Given the description of an element on the screen output the (x, y) to click on. 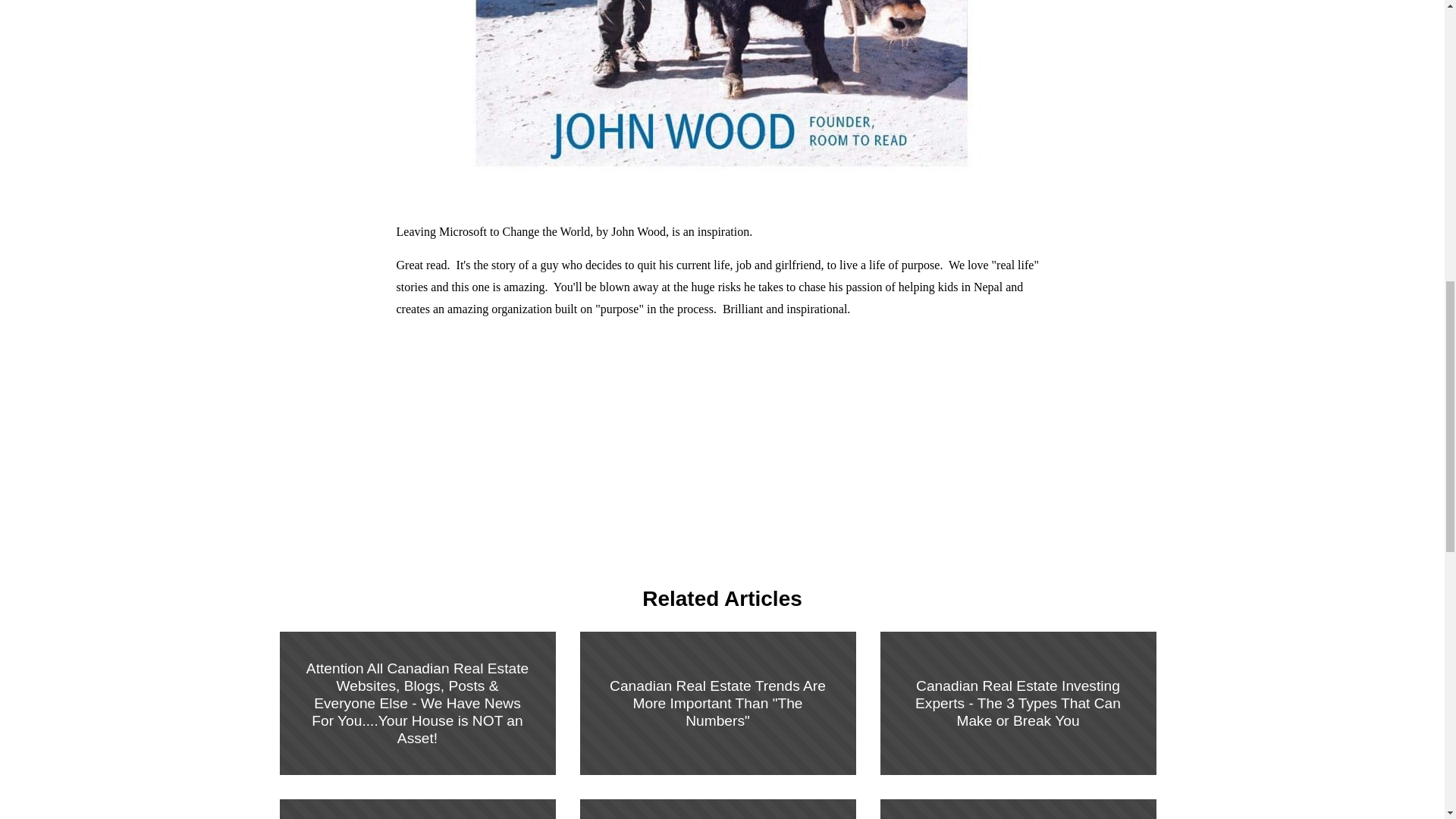
Buying Investment Real Estate Requires The Proper Mindset (717, 803)
Advice For Canadian Real Estate Investors From George Ross (1017, 803)
